Given the description of an element on the screen output the (x, y) to click on. 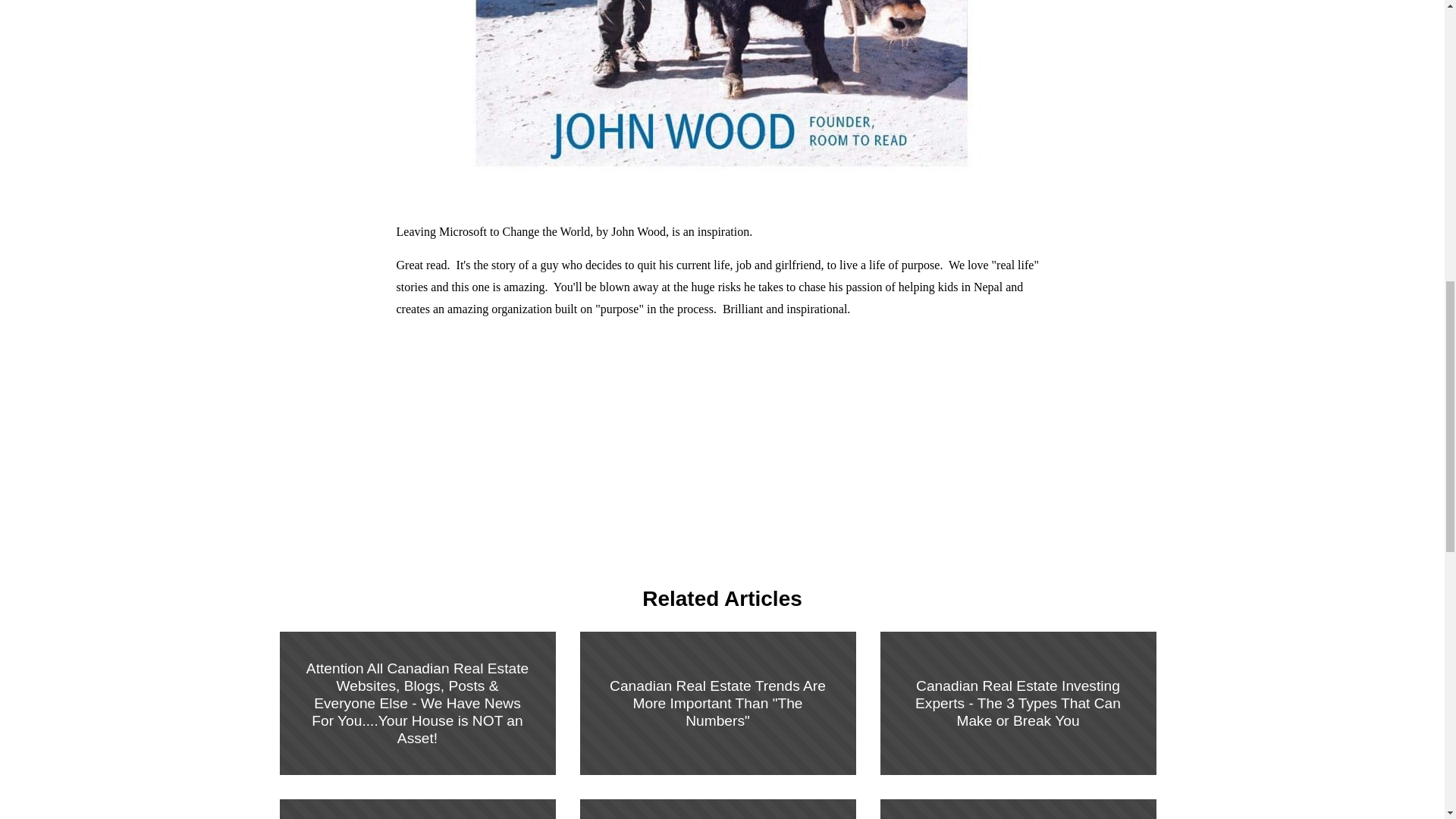
Buying Investment Real Estate Requires The Proper Mindset (717, 803)
Advice For Canadian Real Estate Investors From George Ross (1017, 803)
